Given the description of an element on the screen output the (x, y) to click on. 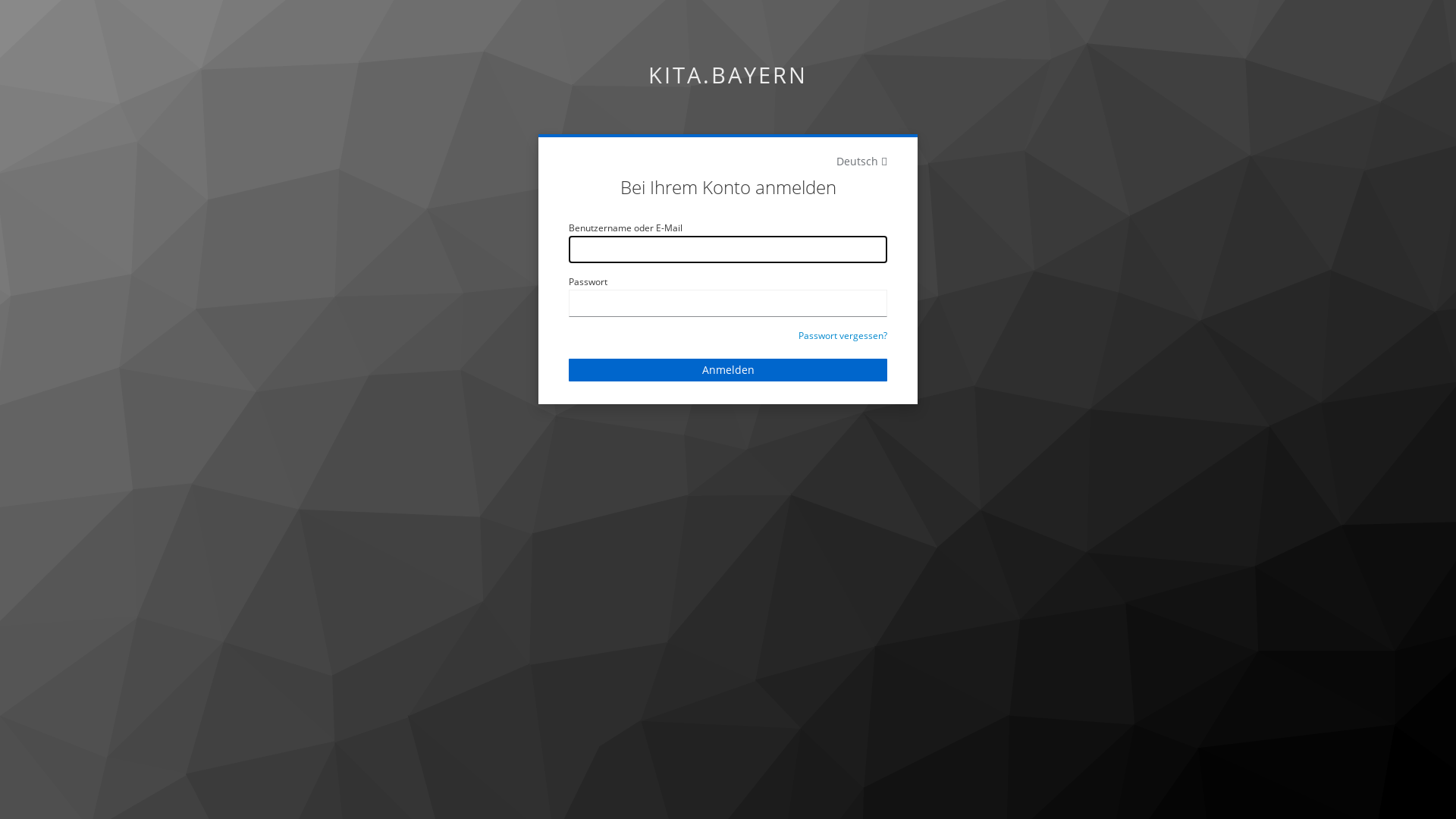
Deutsch Element type: text (861, 160)
Passwort vergessen? Element type: text (842, 335)
Anmelden Element type: text (727, 370)
